Given the description of an element on the screen output the (x, y) to click on. 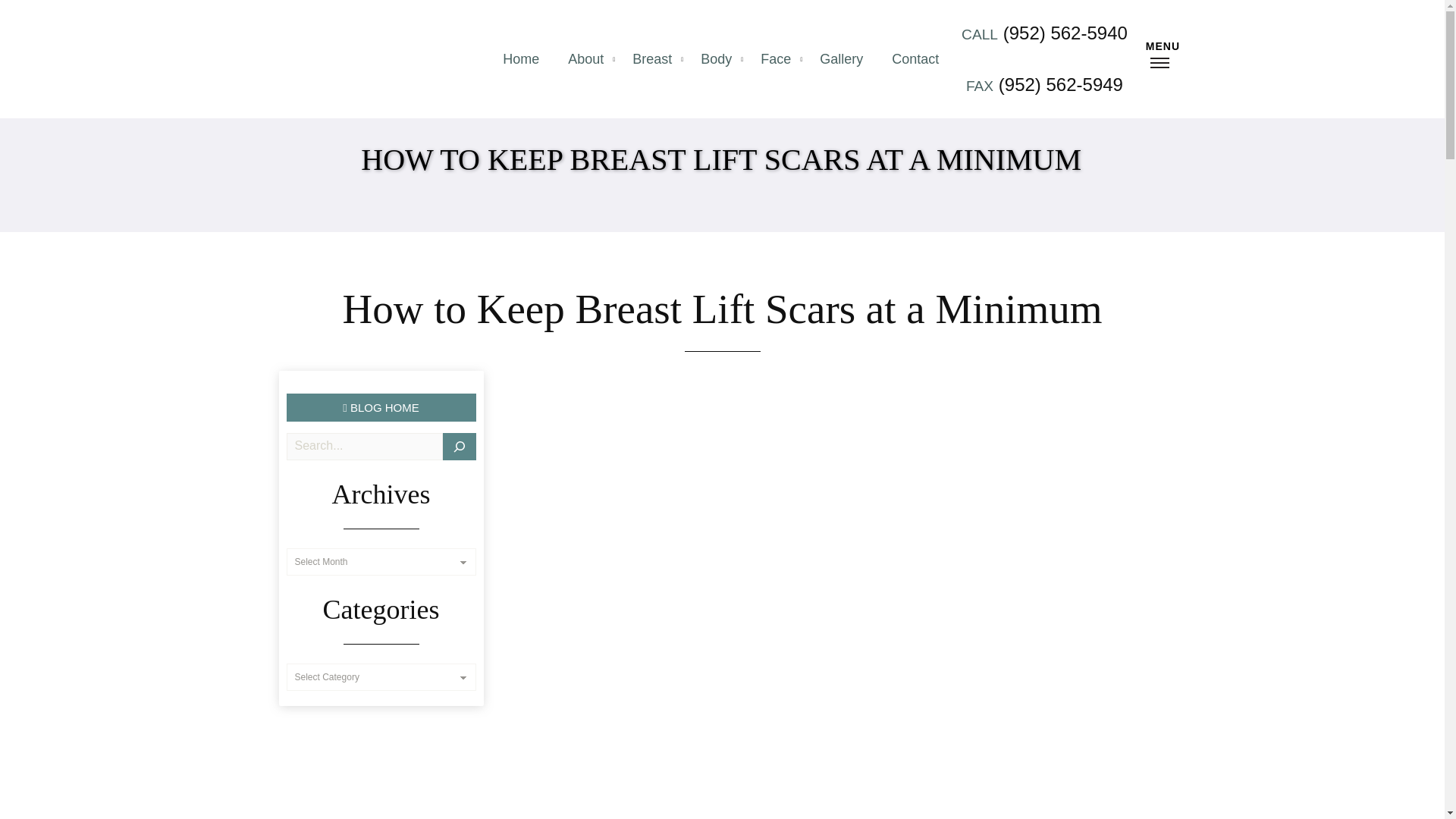
blog home (381, 407)
Home (520, 59)
Contact (915, 59)
Face (775, 59)
Breast (651, 59)
About (585, 59)
Body (716, 59)
Gallery (841, 59)
